Given the description of an element on the screen output the (x, y) to click on. 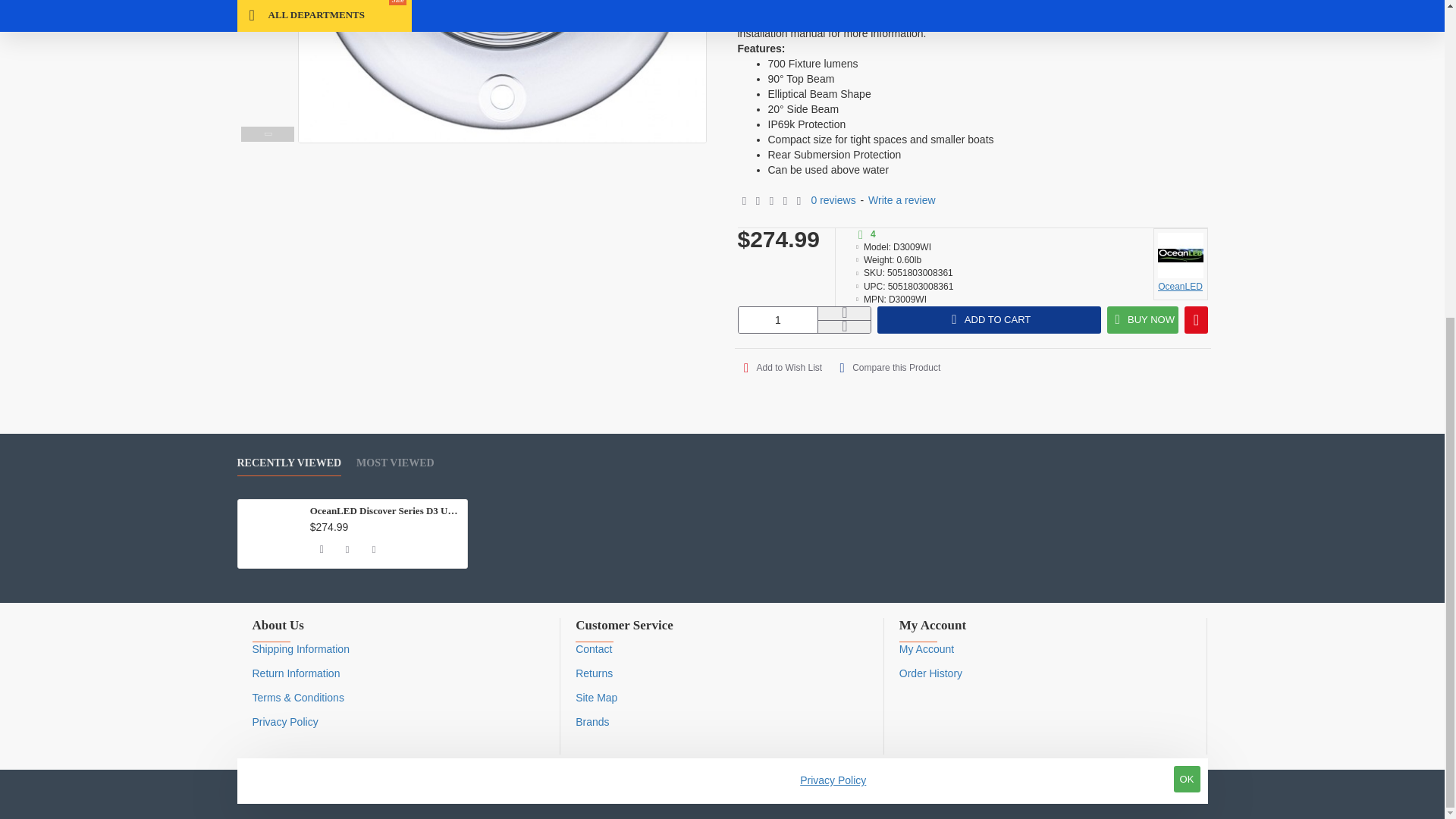
OK (1186, 266)
Privacy Policy (832, 268)
1 (778, 319)
